Given the description of an element on the screen output the (x, y) to click on. 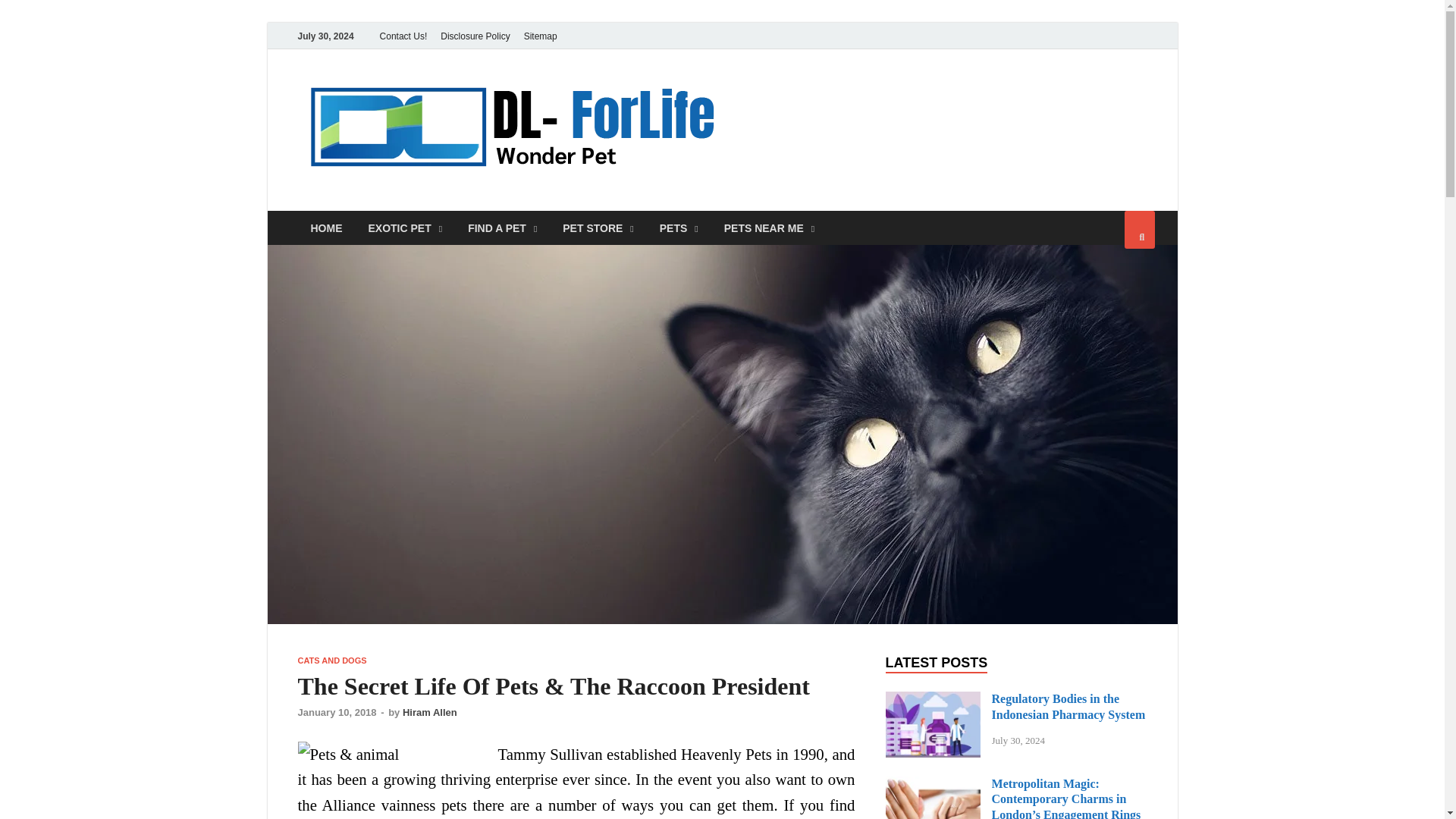
Regulatory Bodies in the Indonesian Pharmacy System (932, 699)
EXOTIC PET (404, 227)
PETS NEAR ME (769, 227)
DL4U-Pets (810, 100)
PETS (678, 227)
Sitemap (540, 35)
PET STORE (598, 227)
FIND A PET (502, 227)
Disclosure Policy (474, 35)
Contact Us! (402, 35)
